Given the description of an element on the screen output the (x, y) to click on. 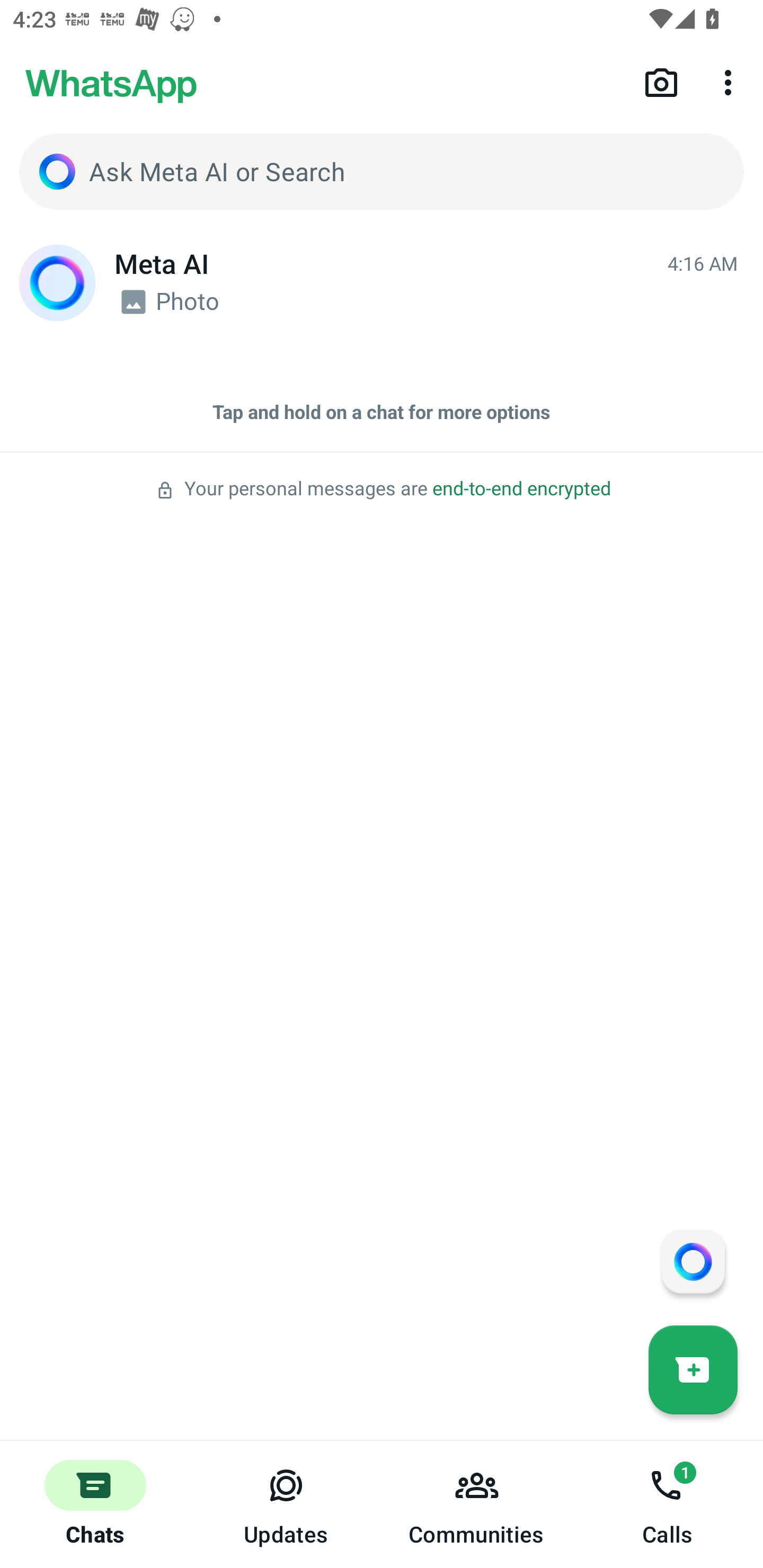
Camera (661, 81)
More options (731, 81)
Meta AI Meta AI 4:16 AM 4:16 AM Photo (381, 282)
Meta AI (57, 282)
end-to-end encrypted (521, 489)
Message your assistant (692, 1261)
New chat (692, 1369)
Updates (285, 1504)
Communities (476, 1504)
Calls, 1 new notification Calls (667, 1504)
